Given the description of an element on the screen output the (x, y) to click on. 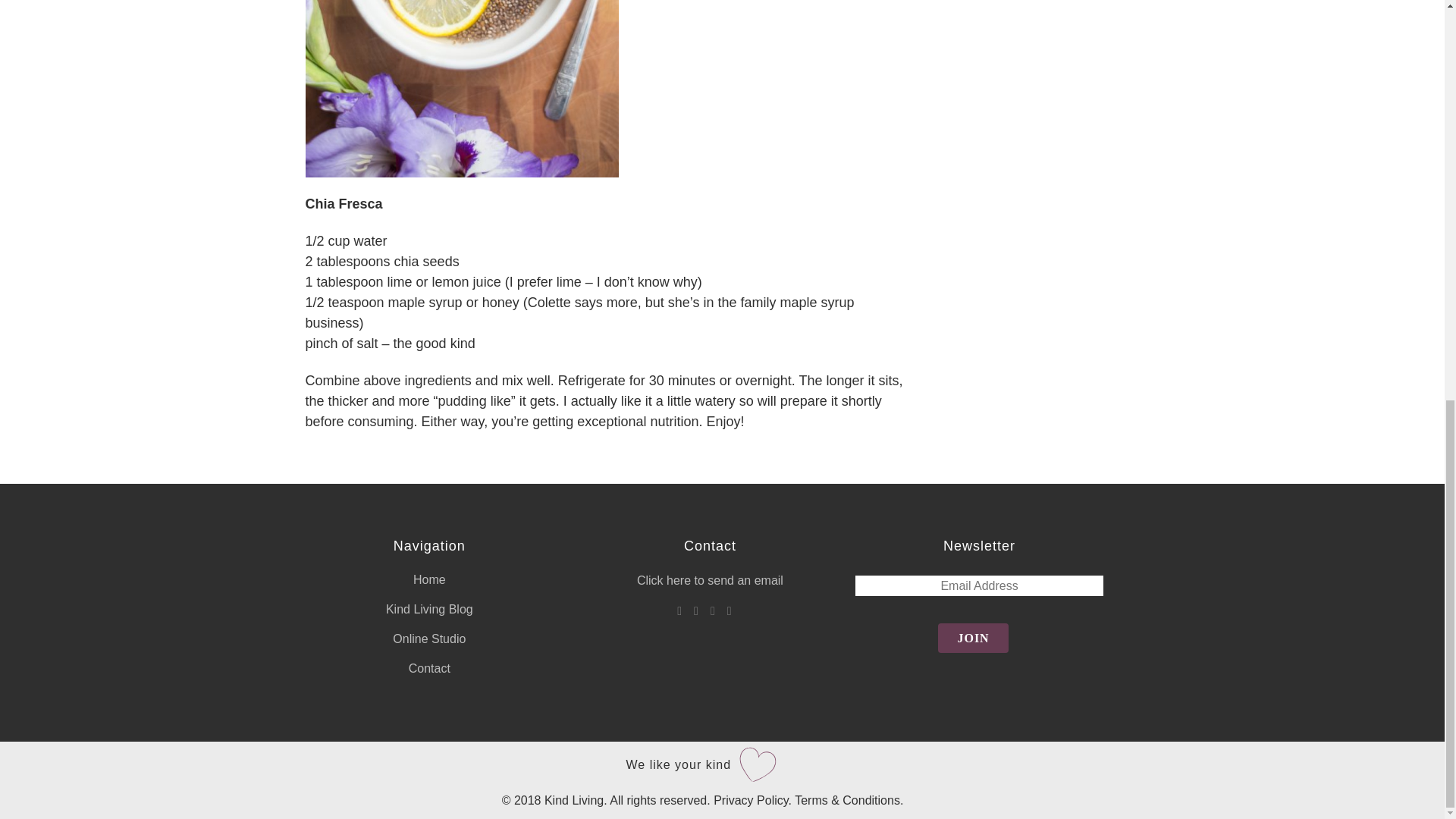
Join (972, 637)
Privacy Policy (750, 799)
Join (972, 637)
Click here to send an email (710, 580)
Kind Living Blog (429, 609)
Home (429, 579)
Contact (429, 668)
Online Studio (429, 638)
